Given the description of an element on the screen output the (x, y) to click on. 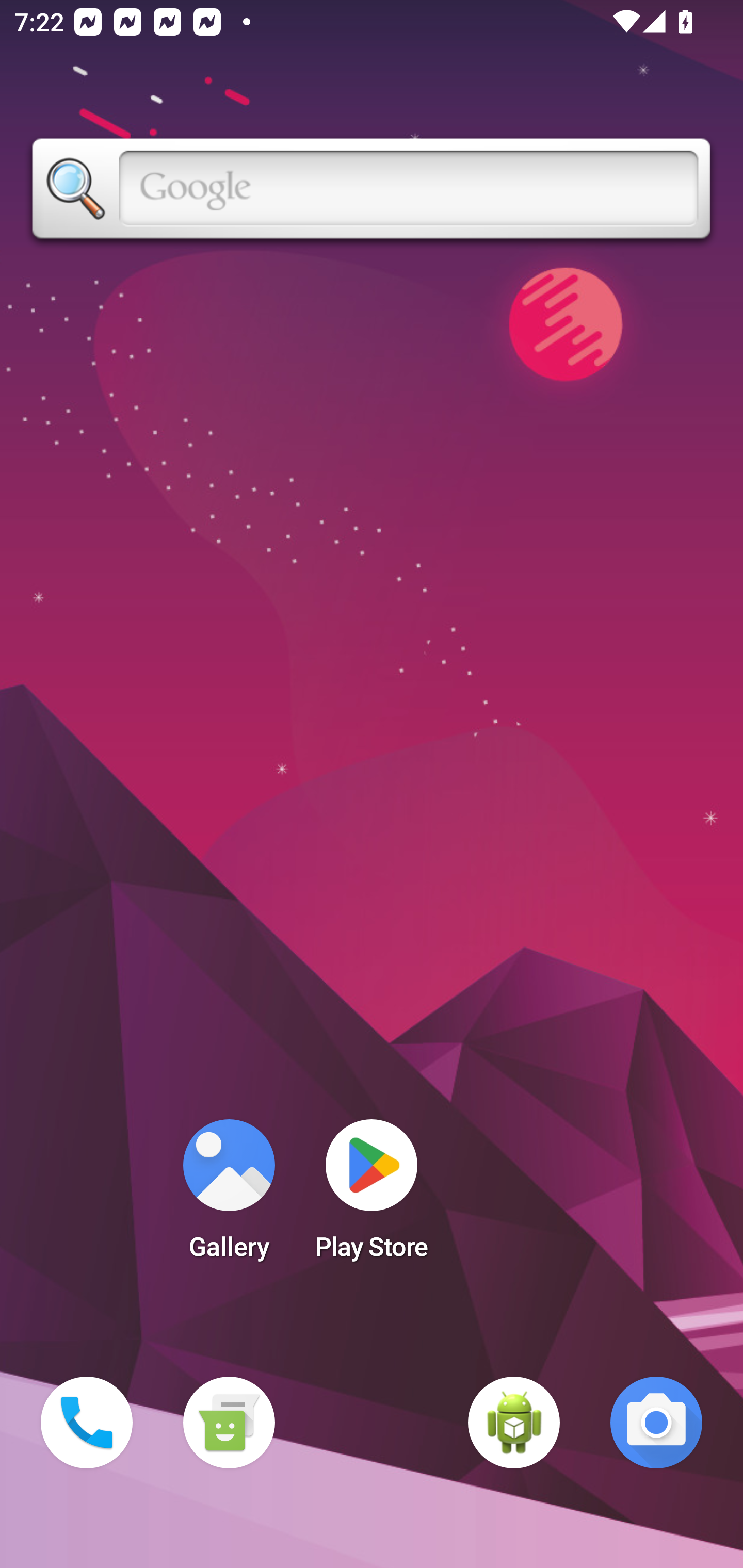
Gallery (228, 1195)
Play Store (371, 1195)
Phone (86, 1422)
Messaging (228, 1422)
WebView Browser Tester (513, 1422)
Camera (656, 1422)
